Given the description of an element on the screen output the (x, y) to click on. 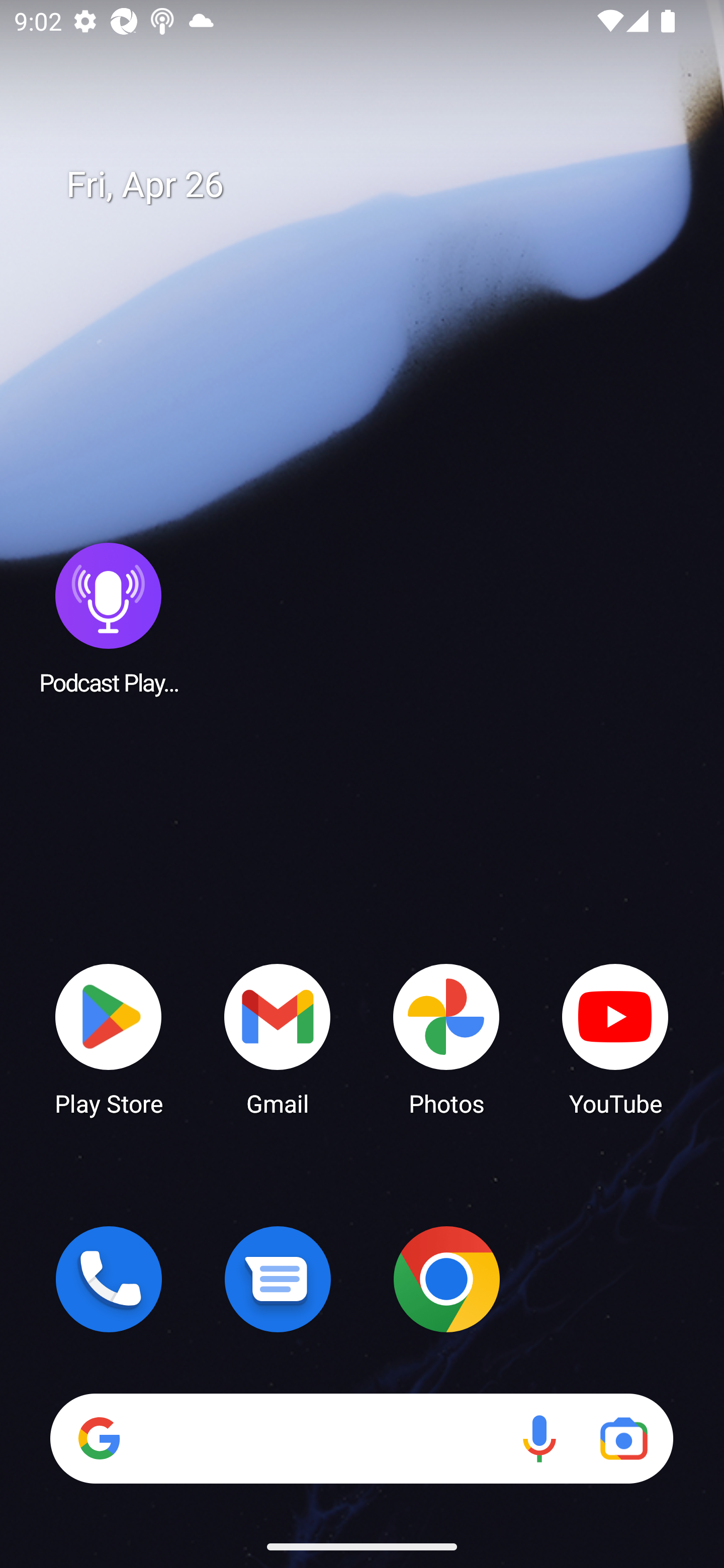
Fri, Apr 26 (375, 184)
Podcast Player (108, 617)
Play Store (108, 1038)
Gmail (277, 1038)
Photos (445, 1038)
YouTube (615, 1038)
Phone (108, 1279)
Messages (277, 1279)
Chrome (446, 1279)
Search Voice search Google Lens (361, 1438)
Voice search (539, 1438)
Google Lens (623, 1438)
